Given the description of an element on the screen output the (x, y) to click on. 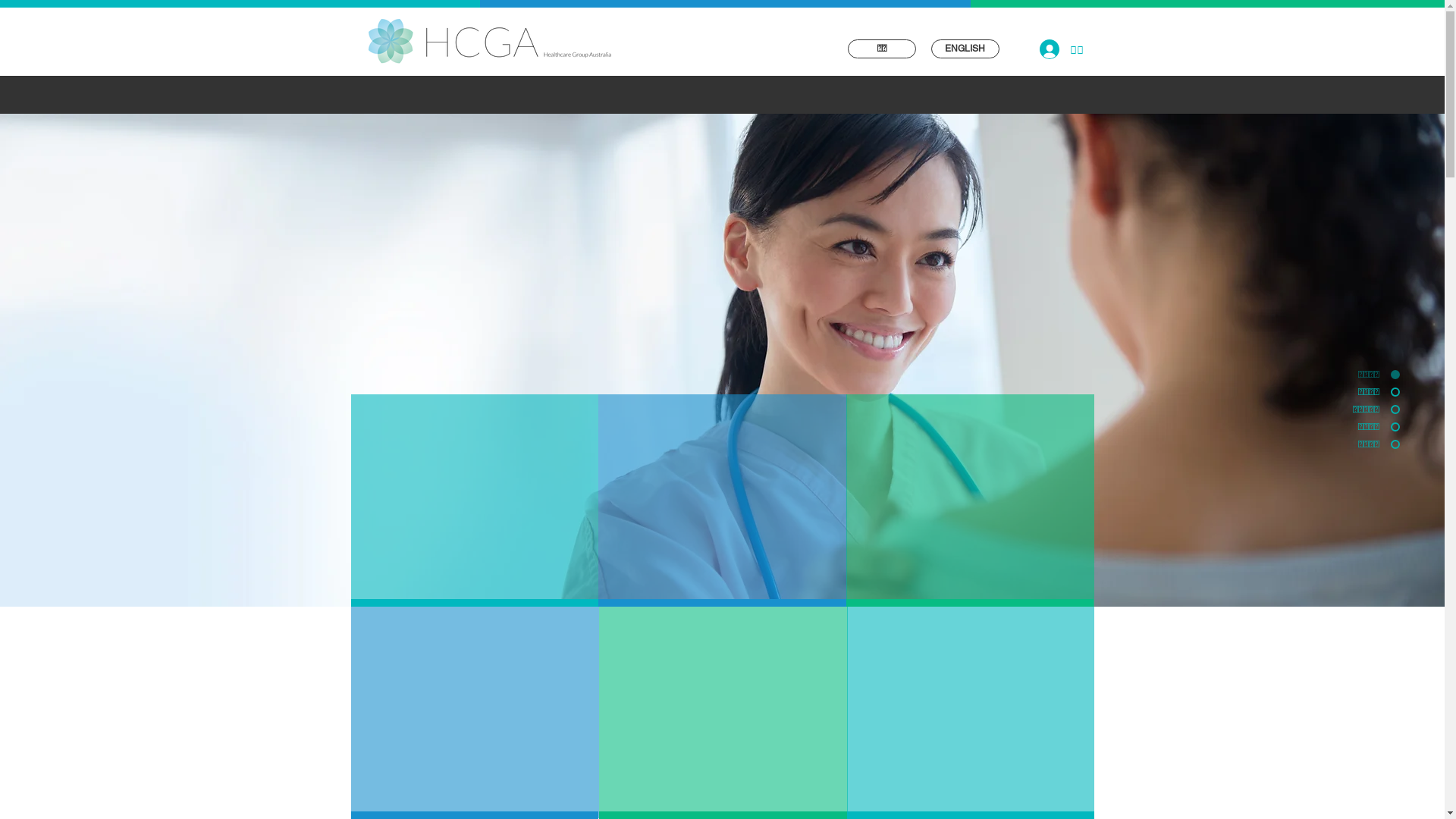
ENGLISH Element type: text (965, 48)
